Given the description of an element on the screen output the (x, y) to click on. 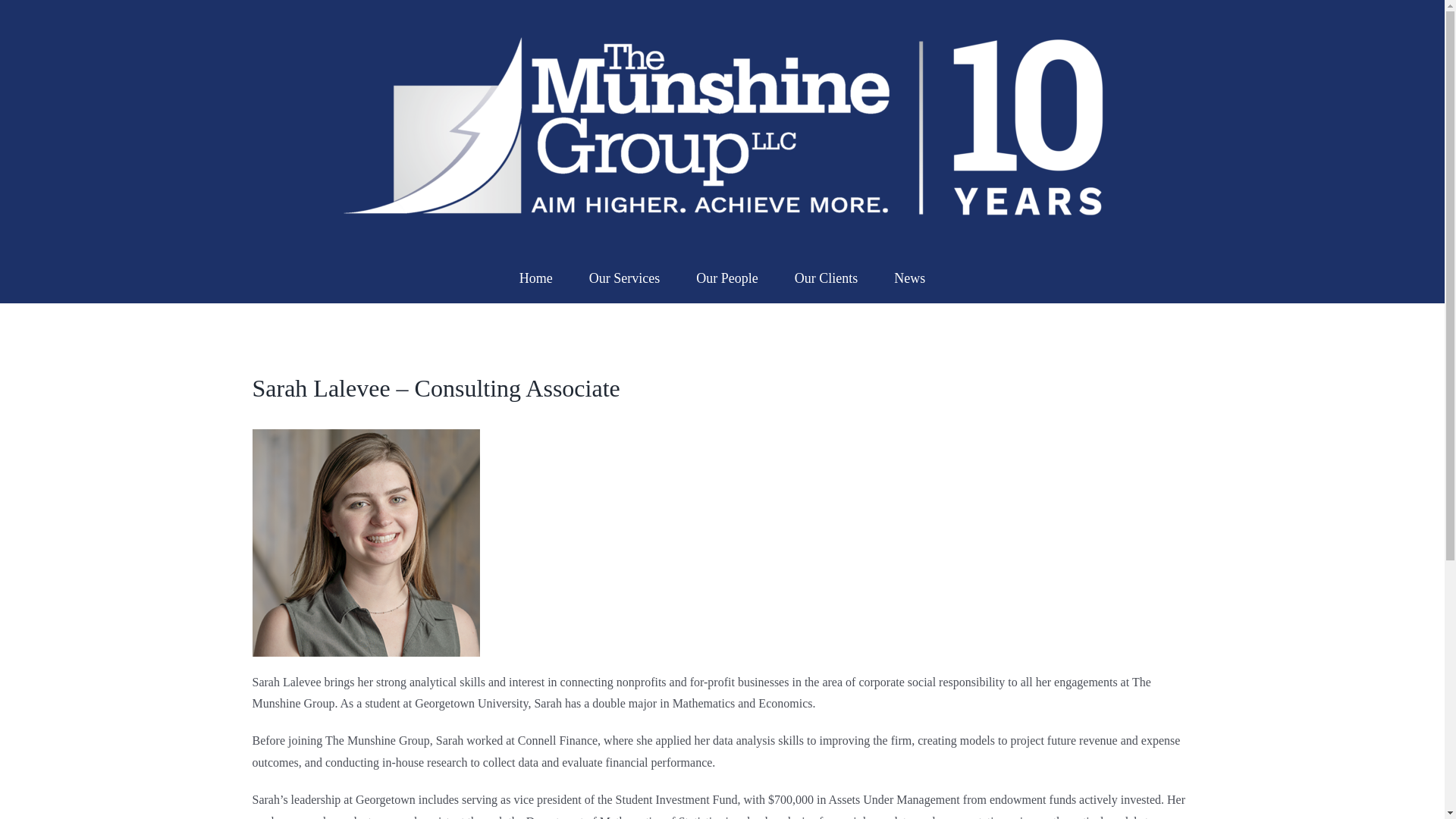
Our Services (624, 276)
Our Clients (826, 276)
Our People (726, 276)
